Given the description of an element on the screen output the (x, y) to click on. 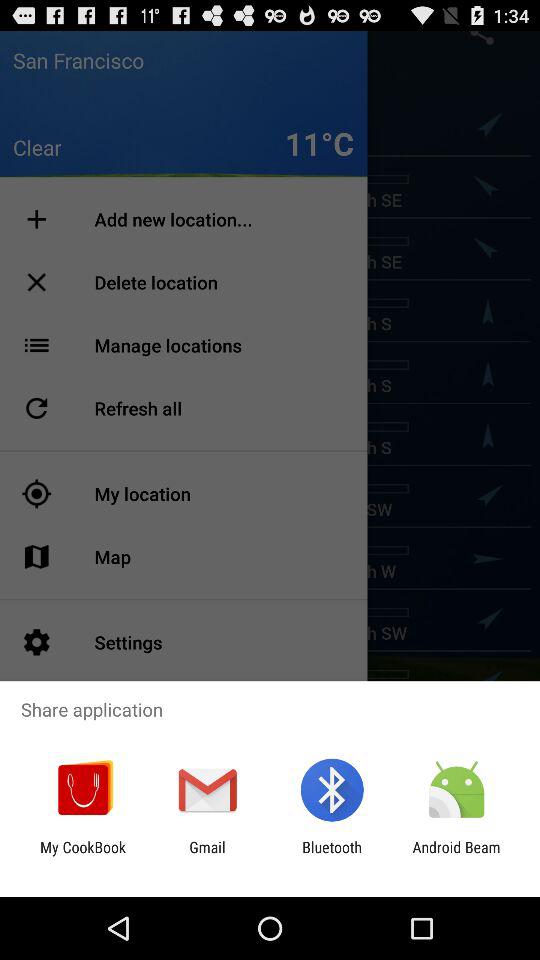
launch app to the left of android beam app (331, 856)
